Given the description of an element on the screen output the (x, y) to click on. 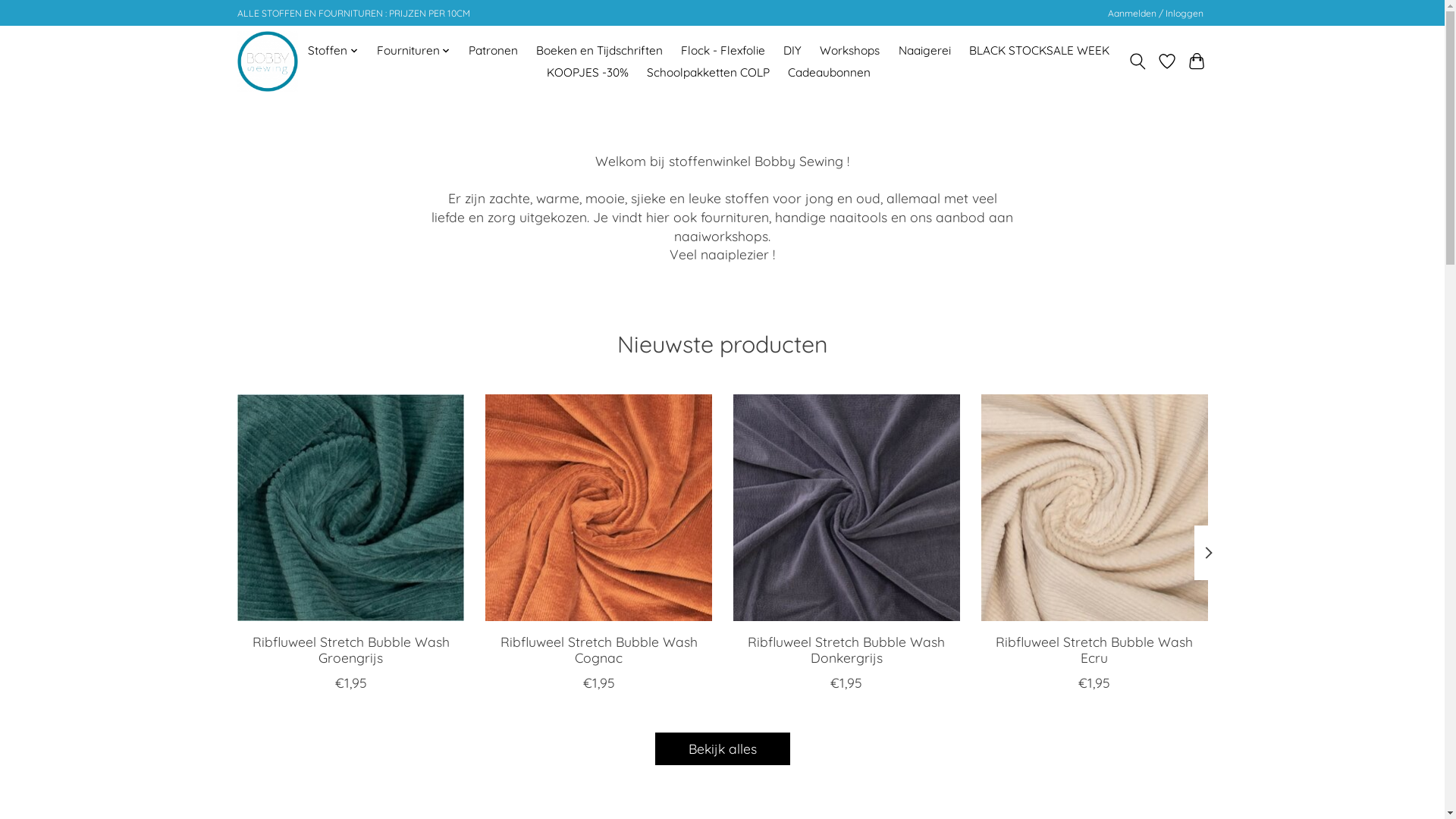
Ribfluweel Stretch Bubble Wash Cognac Element type: text (597, 649)
Ribfluweel Stretch Bubble Wash Groengrijs Element type: hover (349, 507)
Stoffen Element type: text (333, 51)
Ribfluweel Stretch Bubble Wash Donkergrijs Element type: text (845, 649)
Ribfluweel Stretch Bubble Wash Ecru Element type: hover (1093, 507)
Boeken en Tijdschriften Element type: text (599, 51)
Fournituren Element type: text (413, 51)
Ribfluweel Stretch Bubble Wash Cognac Element type: hover (597, 507)
Flock - Flexfolie Element type: text (722, 51)
DIY Element type: text (792, 51)
Aanmelden / Inloggen Element type: text (1155, 12)
Workshops Element type: text (849, 51)
Patronen Element type: text (493, 51)
BLACK STOCKSALE WEEK Element type: text (1038, 51)
Bekijk alles Element type: text (722, 748)
Bobby Sewing  Element type: hover (266, 61)
Cadeaubonnen Element type: text (828, 72)
Naaigerei Element type: text (923, 51)
Schoolpakketten COLP Element type: text (708, 72)
Ribfluweel Stretch Bubble Wash Donkergrijs Element type: hover (845, 507)
KOOPJES -30% Element type: text (587, 72)
Ribfluweel Stretch Bubble Wash Groengrijs Element type: text (349, 649)
Ribfluweel Stretch Bubble Wash Ecru Element type: text (1093, 649)
